Given the description of an element on the screen output the (x, y) to click on. 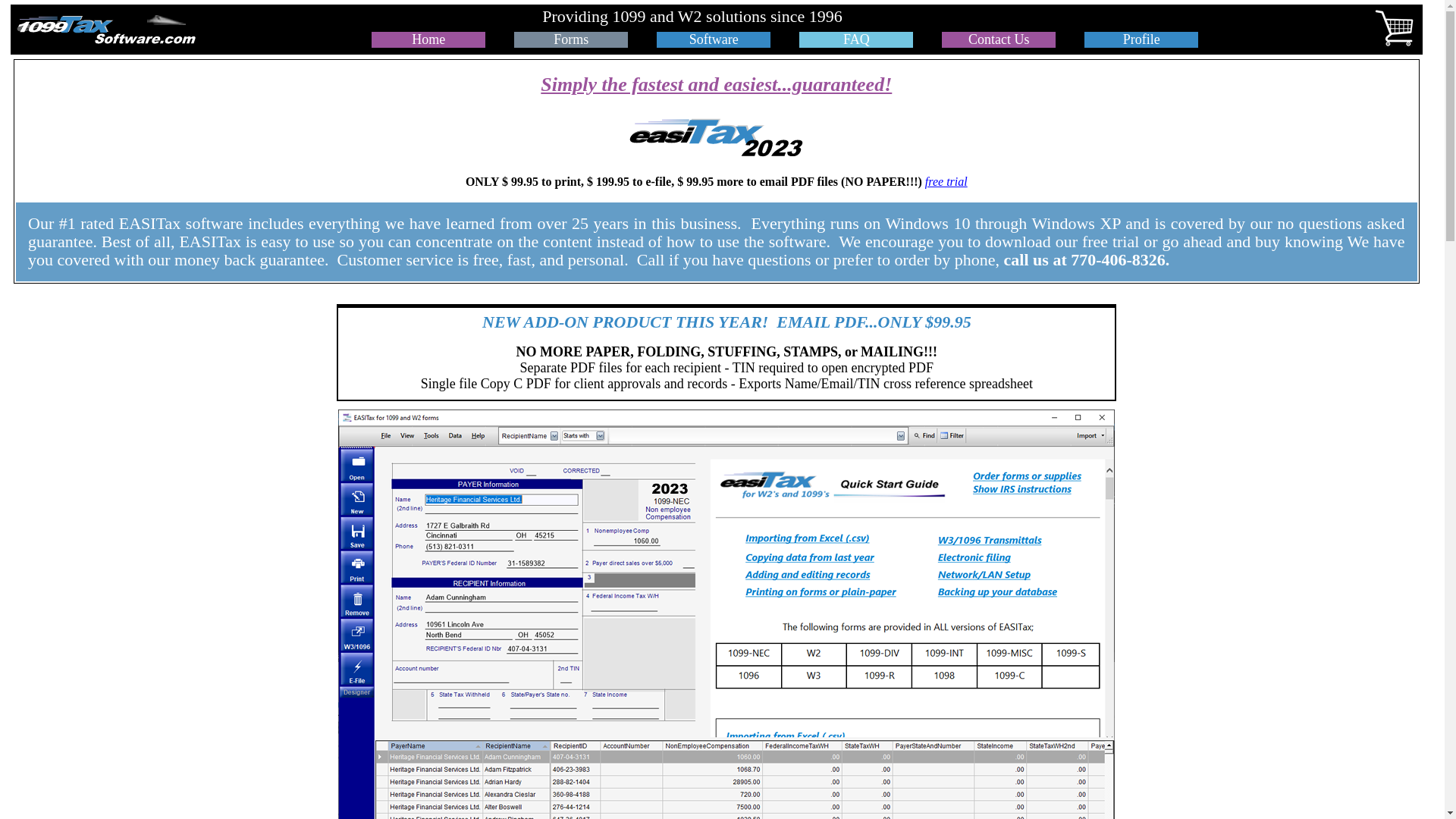
Software Element type: text (713, 39)
Profile Element type: text (1141, 39)
Forms Element type: text (570, 39)
Contact Us Element type: text (998, 39)
FAQ Element type: text (856, 39)
Click to load cart with last year's order Element type: text (942, 18)
Home Element type: text (428, 39)
free trial Element type: text (946, 181)
